Given the description of an element on the screen output the (x, y) to click on. 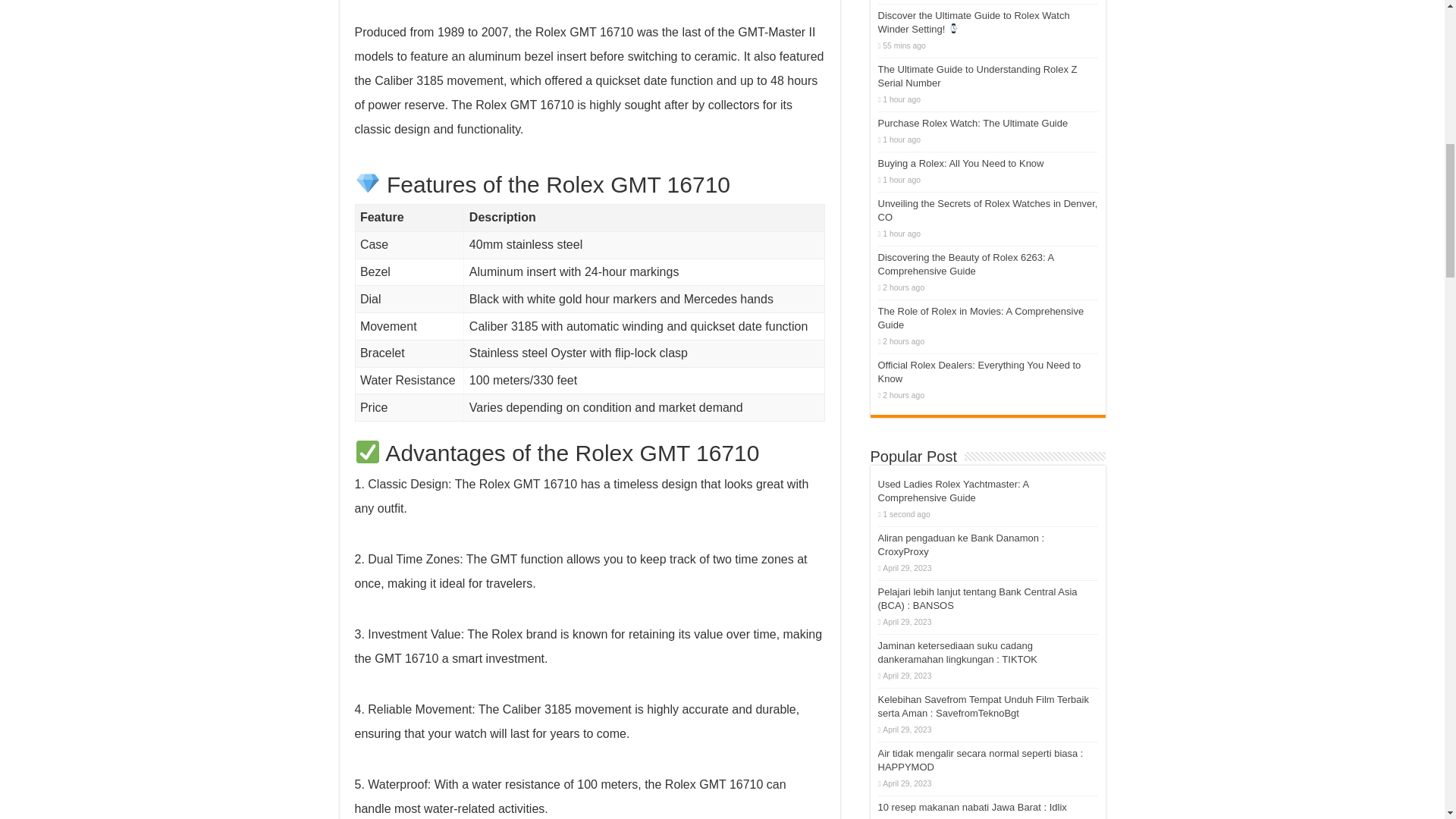
Unveiling the Secrets of Rolex Watches in Denver, CO (987, 210)
Used Ladies Rolex Yachtmaster: A Comprehensive Guide (953, 490)
10 resep makanan nabati Jawa Barat : Idlix (972, 807)
The Role of Rolex in Movies: A Comprehensive Guide (980, 317)
Discovering the Beauty of Rolex 6263: A Comprehensive Guide (965, 263)
Purchase Rolex Watch: The Ultimate Guide (972, 122)
Aliran pengaduan ke Bank Danamon : CroxyProxy (961, 544)
Discover the Ultimate Guide to Rolex Watch Winder Setting! (973, 22)
Buying a Rolex: All You Need to Know (960, 163)
The Ultimate Guide to Understanding Rolex Z Serial Number (977, 75)
Air tidak mengalir secara normal seperti biasa : HAPPYMOD (980, 760)
Official Rolex Dealers: Everything You Need to Know (979, 371)
